Given the description of an element on the screen output the (x, y) to click on. 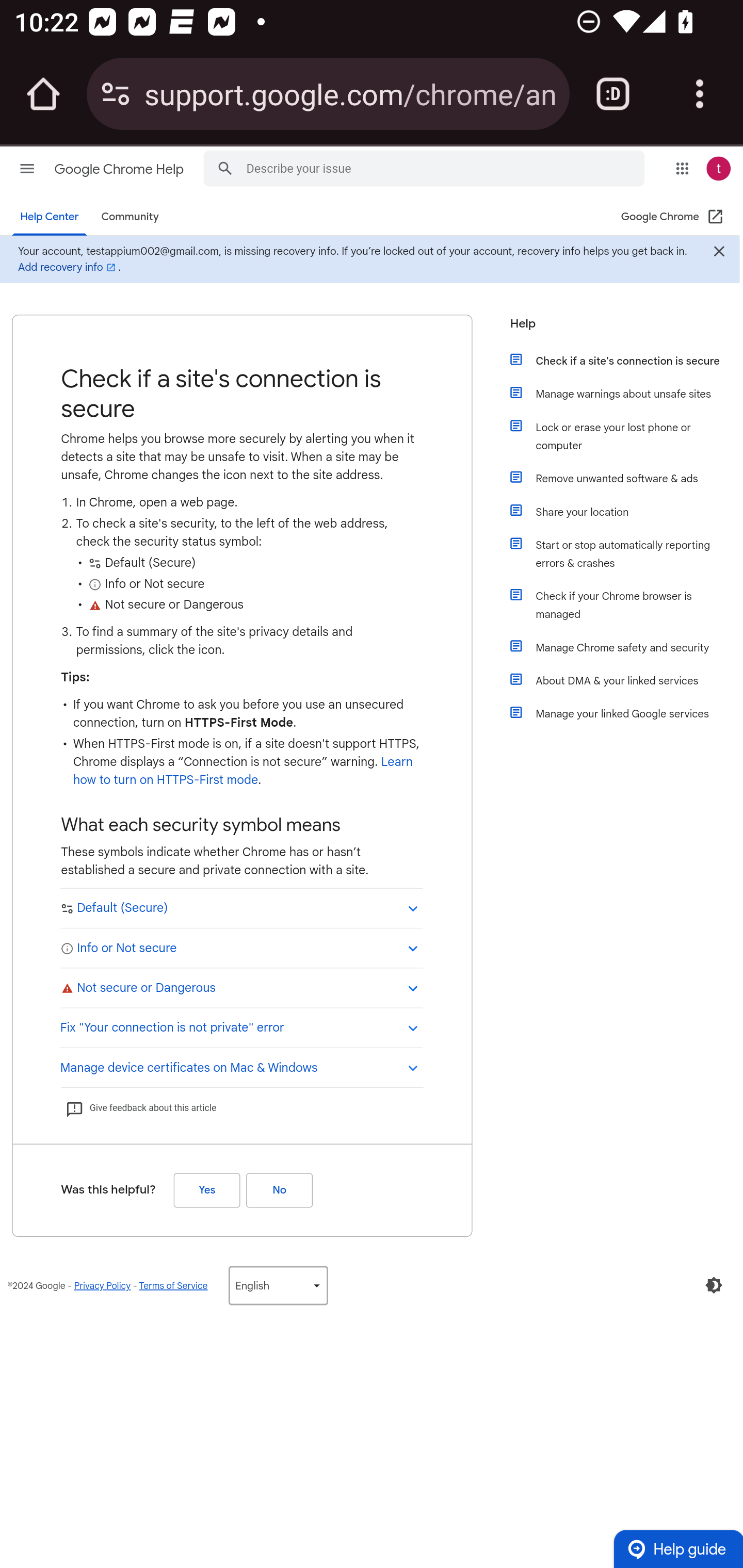
Open the home page (43, 93)
Connection is secure (115, 93)
Switch or close tabs (612, 93)
Customize and control Google Chrome (699, 93)
Main menu (27, 168)
Google Chrome Help (120, 169)
Search Help Center (224, 167)
Google apps (681, 168)
Help Center (48, 217)
Community (129, 217)
Google Chrome (Open in a new window) Google Chrome (672, 217)
Close (718, 252)
Add recovery info (67, 267)
Help Help Help (618, 328)
Check if a site's connection is secure (626, 360)
Manage warnings about unsafe sites (626, 393)
Lock or erase your lost phone or computer (626, 436)
Remove unwanted software & ads (626, 477)
Share your location (626, 511)
Check if your Chrome browser is managed (626, 604)
Manage Chrome safety and security (626, 647)
About DMA & your linked services (626, 680)
Manage your linked Google services (626, 713)
Learn how to turn on HTTPS-First mode (242, 770)
Default (Secure) Default (Secure) (240, 907)
View site information Info or Not secure (240, 946)
Dangerous Not secure or Dangerous (240, 987)
Fix "Your connection is not private" error (240, 1026)
Manage device certificates on Mac & Windows (240, 1065)
Give feedback about this article (140, 1107)
Yes (Was this helpful?) (206, 1189)
No (Was this helpful?) (278, 1189)
Language (English‎) (277, 1284)
Enable Dark Mode (713, 1284)
Privacy Policy (101, 1285)
Terms of Service (173, 1285)
Help guide (677, 1548)
